Given the description of an element on the screen output the (x, y) to click on. 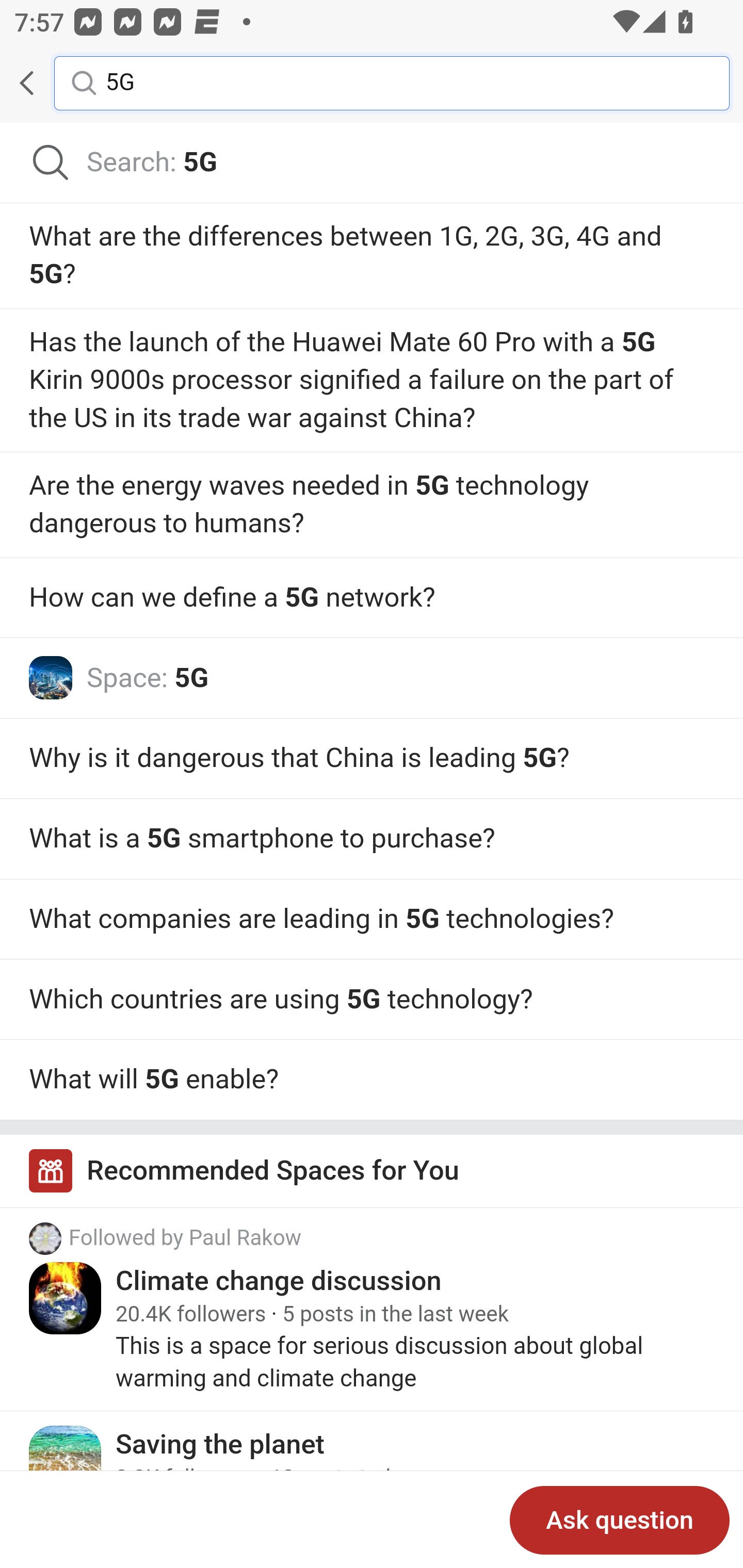
Me Home Search Add (371, 82)
5G (402, 82)
Search: 5 (371, 162)
Icon for 5G (50, 677)
What companies are leading in 5G technologies? (371, 918)
What will 5G enable? (371, 1080)
Icon for Climate change discussion (65, 1297)
